Given the description of an element on the screen output the (x, y) to click on. 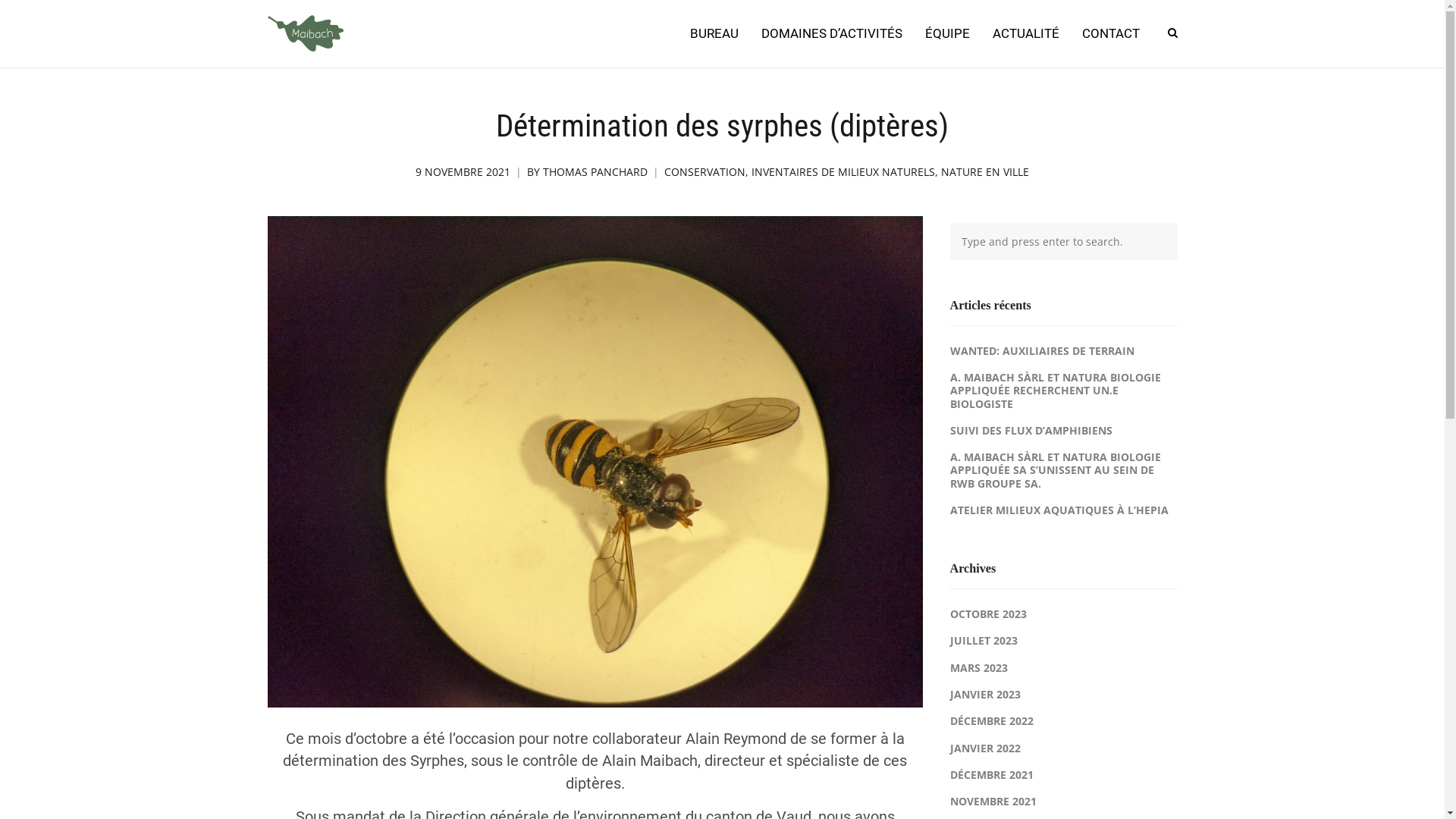
CONSERVATION Element type: text (704, 172)
OCTOBRE 2023 Element type: text (987, 613)
NATURE EN VILLE Element type: text (985, 172)
JANVIER 2023 Element type: text (984, 694)
WANTED: AUXILIAIRES DE TERRAIN Element type: text (1041, 350)
MARS 2023 Element type: text (978, 667)
INVENTAIRES DE MILIEUX NATURELS Element type: text (843, 172)
JUILLET 2023 Element type: text (982, 640)
JANVIER 2022 Element type: text (984, 747)
NOVEMBRE 2021 Element type: text (992, 800)
THOMAS PANCHARD Element type: text (594, 172)
